Given the description of an element on the screen output the (x, y) to click on. 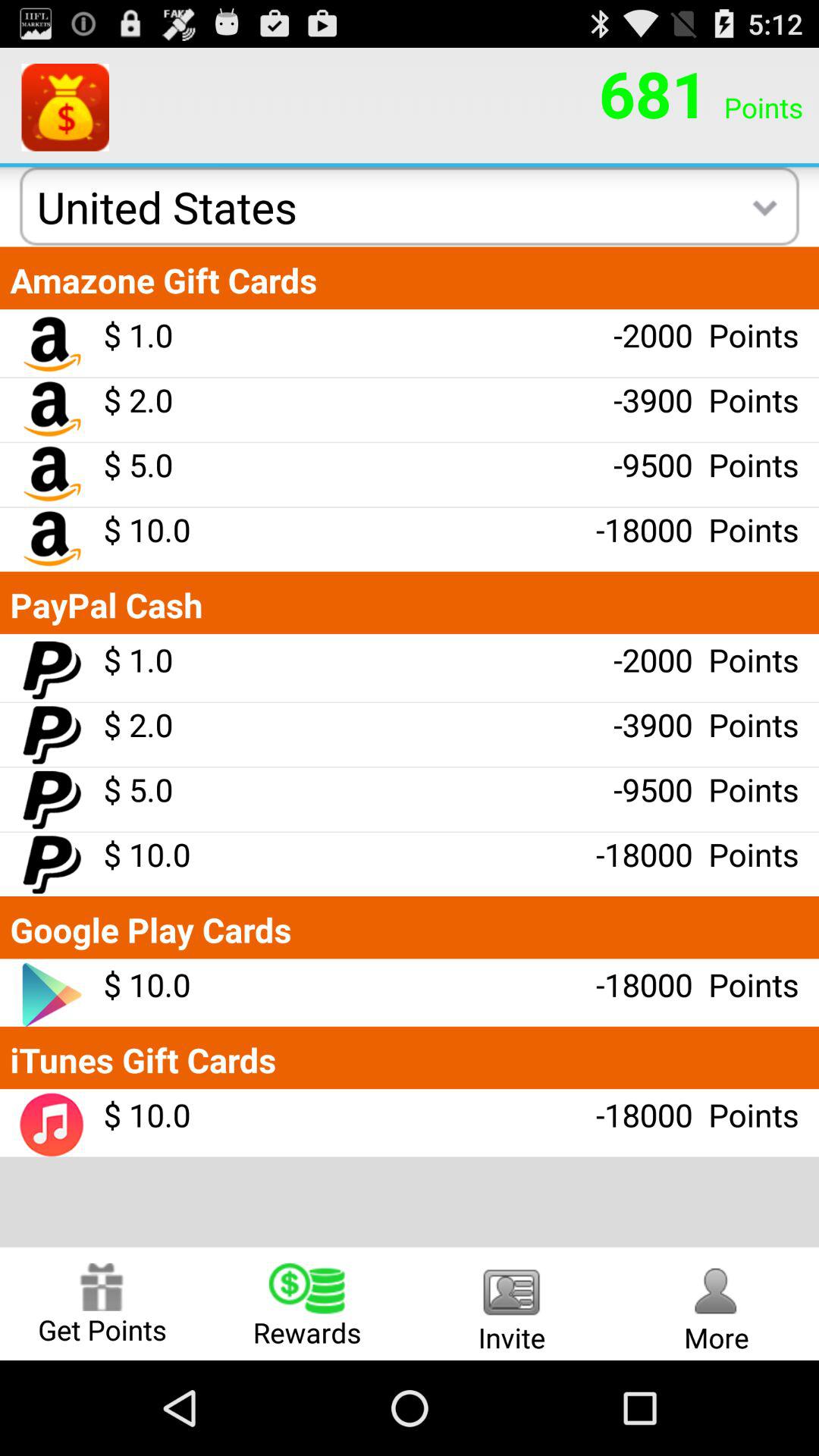
tap item to the left of rewards (102, 1303)
